Given the description of an element on the screen output the (x, y) to click on. 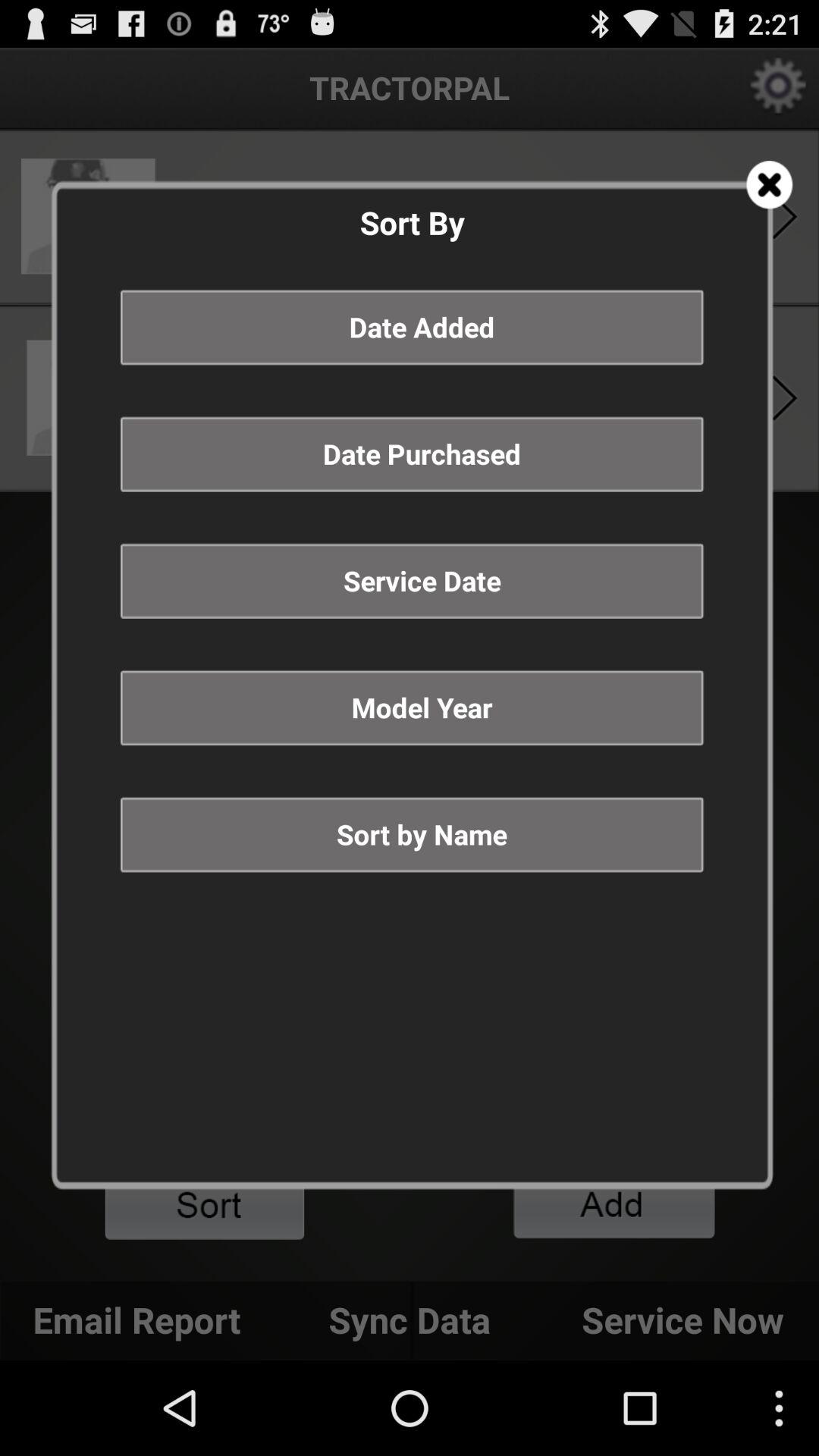
cancel (769, 184)
